Given the description of an element on the screen output the (x, y) to click on. 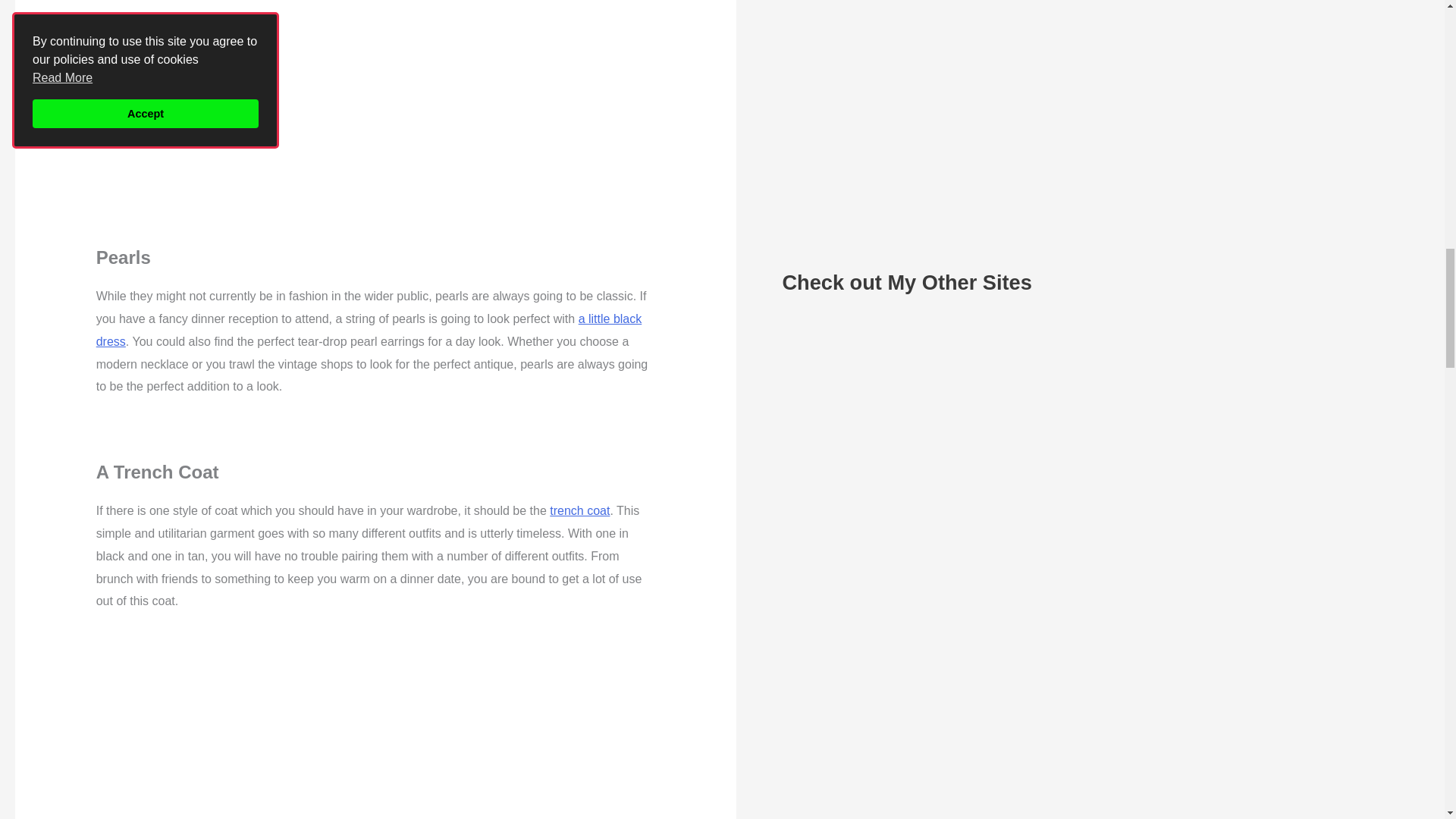
The Writer's Blog (838, 389)
